Given the description of an element on the screen output the (x, y) to click on. 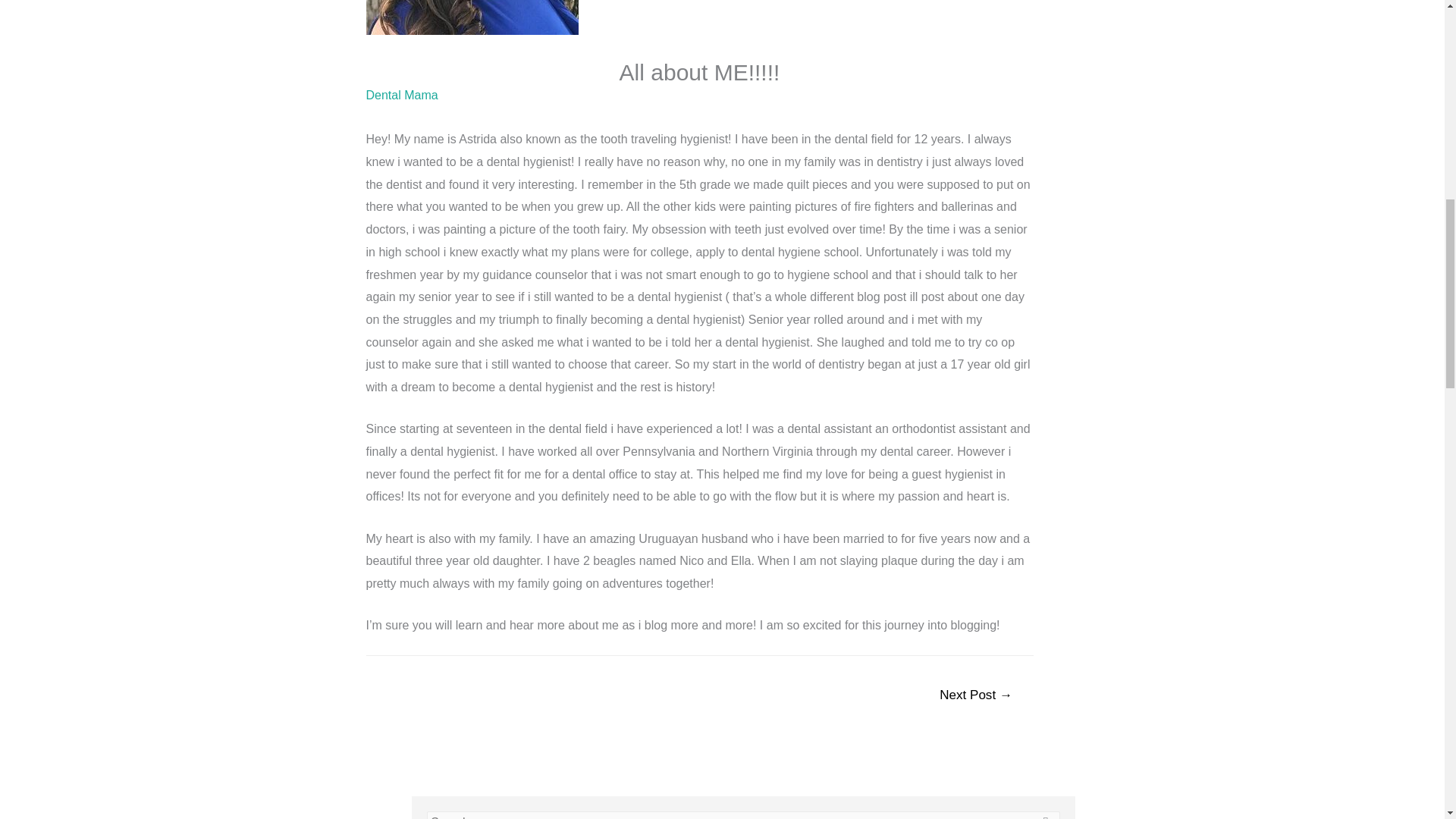
Search (1042, 815)
Search (1042, 815)
Dental Mama (401, 94)
Search (1042, 815)
